Given the description of an element on the screen output the (x, y) to click on. 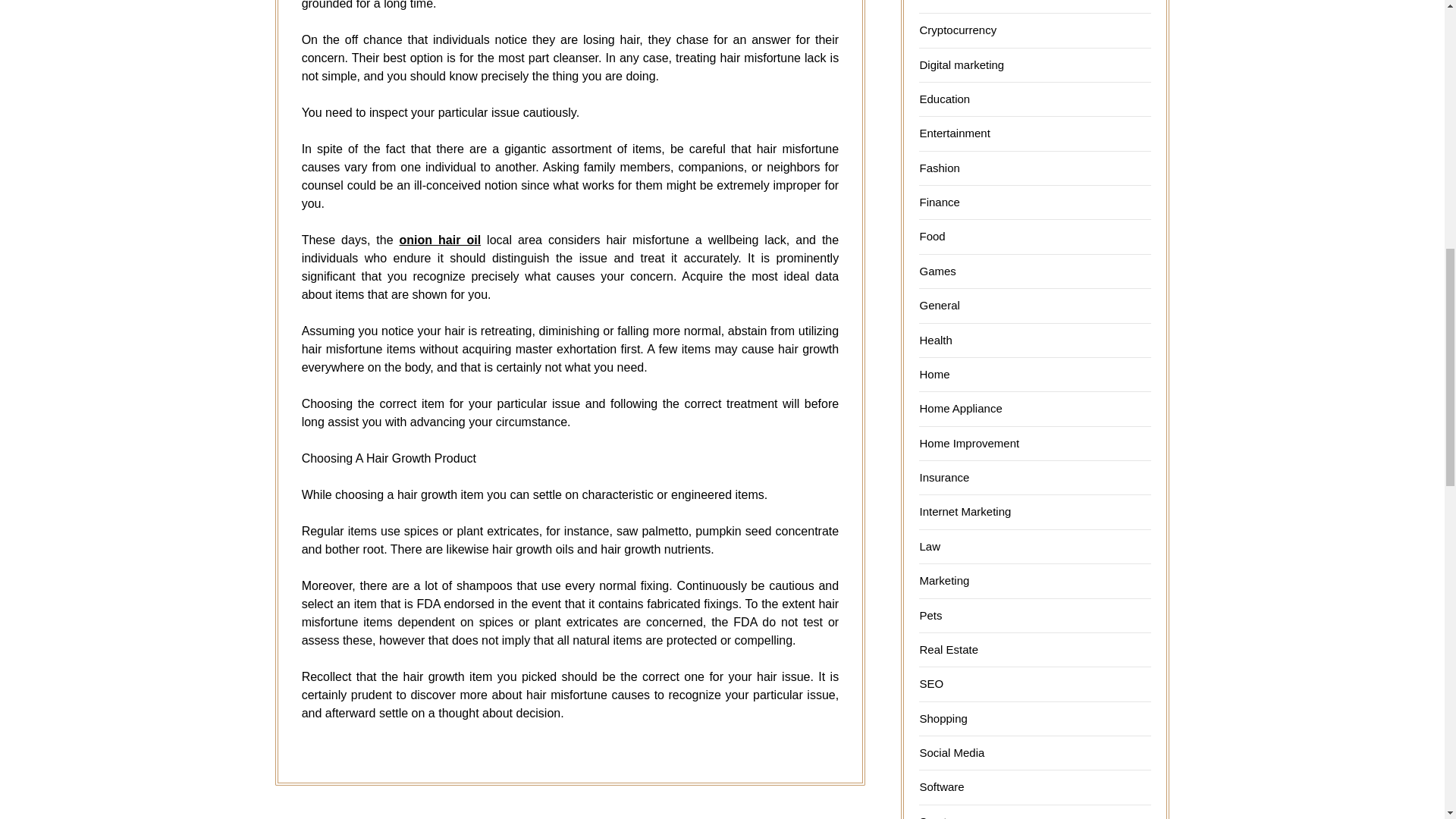
Games (936, 270)
onion hair oil (439, 239)
Home Appliance (959, 408)
Social Media (951, 752)
Real Estate (948, 649)
Business (941, 1)
Entertainment (954, 132)
Food (931, 236)
Finance (938, 201)
Software (940, 786)
General (938, 305)
Marketing (943, 580)
Fashion (938, 167)
Home Improvement (968, 442)
Internet Marketing (964, 511)
